Given the description of an element on the screen output the (x, y) to click on. 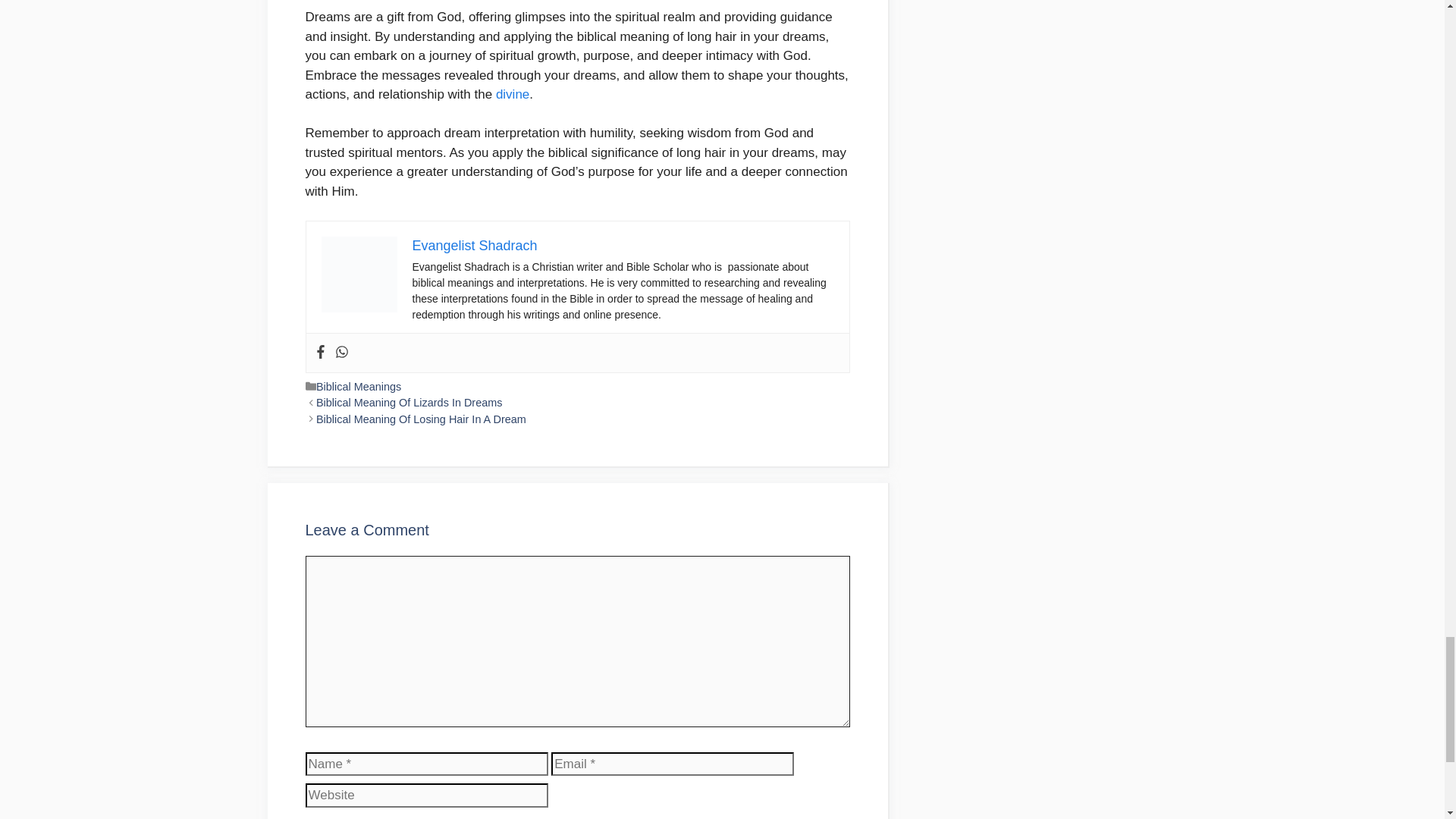
Biblical Meaning Of Lizards In Dreams (408, 402)
Biblical Meanings (358, 386)
divine (512, 93)
divine (512, 93)
Evangelist Shadrach (474, 245)
Biblical Meaning Of Losing Hair In A Dream (420, 419)
